Given the description of an element on the screen output the (x, y) to click on. 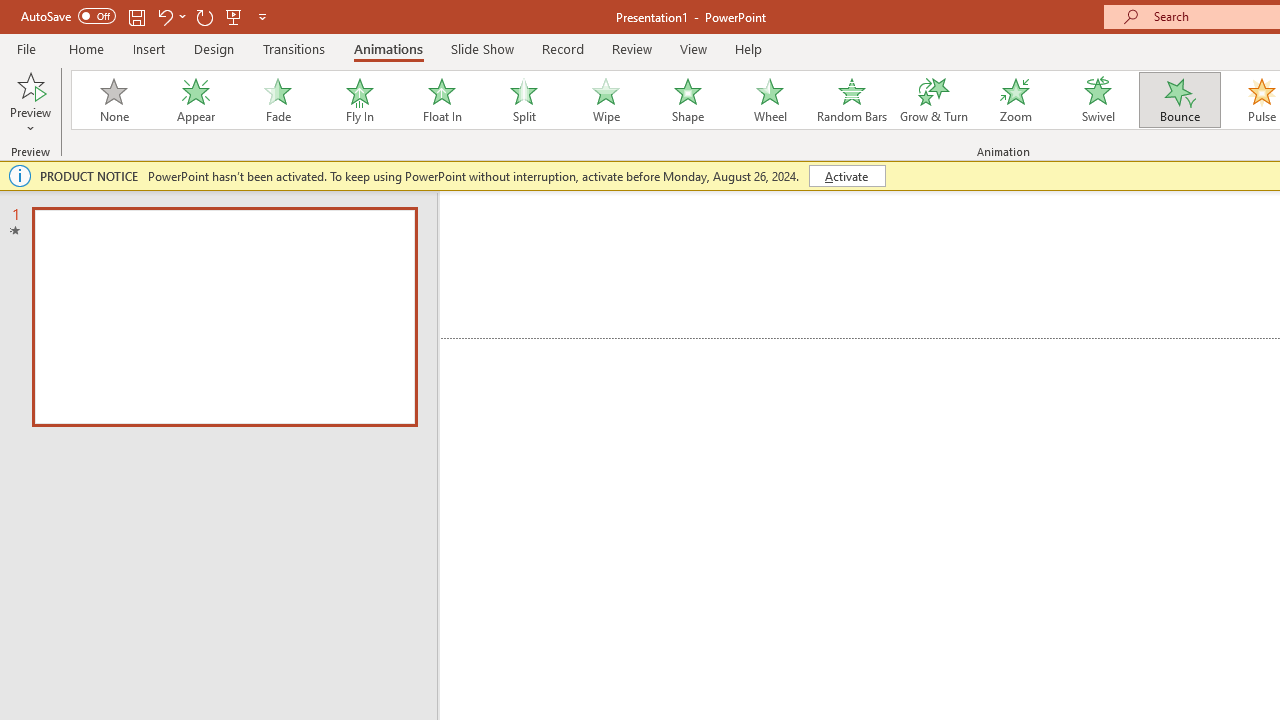
Transitions (294, 48)
More Options (30, 121)
Swivel (1098, 100)
Grow & Turn (934, 100)
View (693, 48)
From Beginning (234, 15)
Float In (441, 100)
Split (523, 100)
Wheel (770, 100)
Redo (204, 15)
Home (86, 48)
Undo (164, 15)
Zoom (1016, 100)
Undo (170, 15)
AutoSave (68, 16)
